Given the description of an element on the screen output the (x, y) to click on. 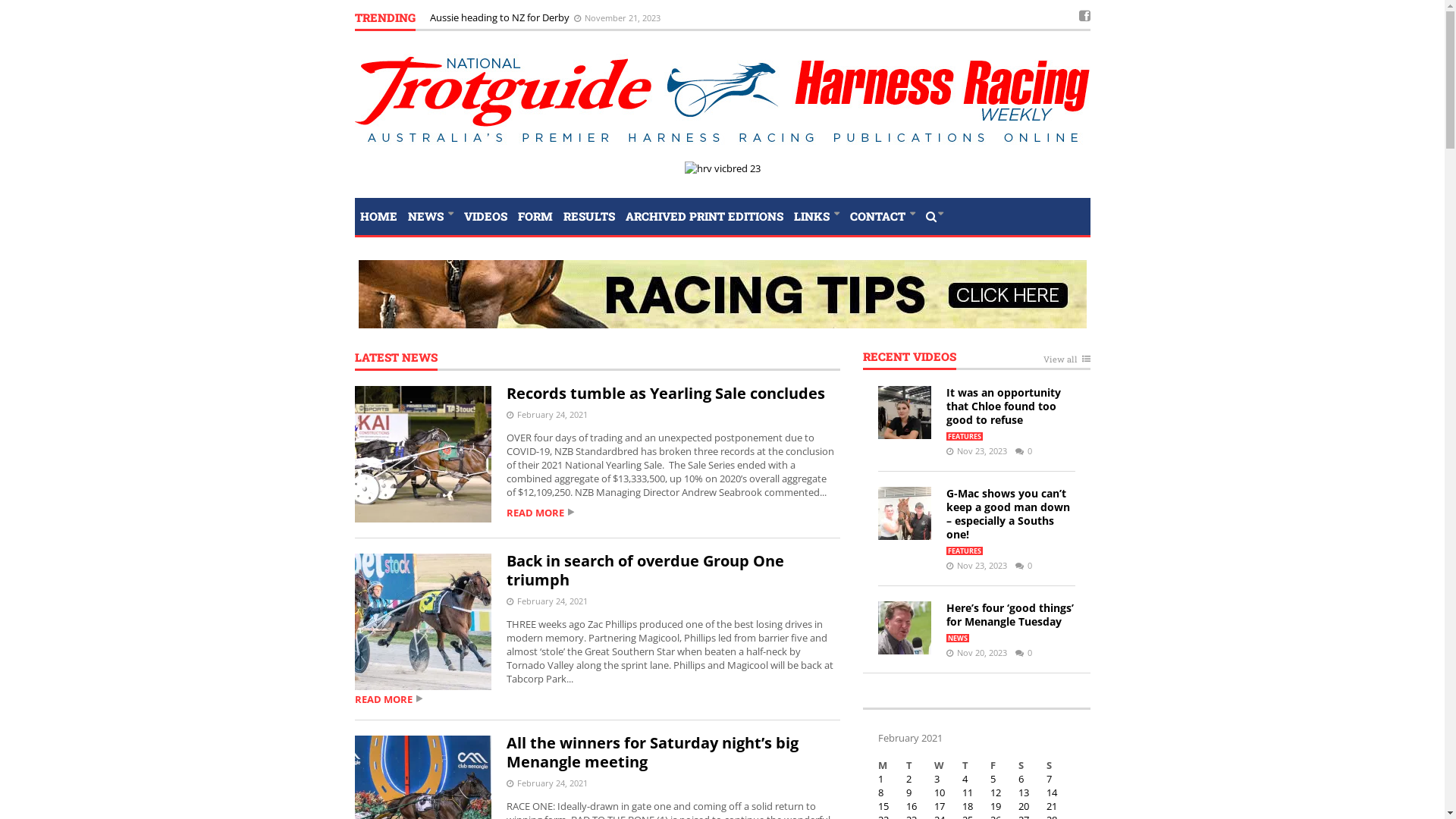
14 Element type: text (1051, 792)
0 Element type: text (1019, 651)
HOME Element type: text (378, 215)
21 Element type: text (1051, 805)
9 Element type: text (908, 792)
2 Element type: text (908, 778)
10 Element type: text (939, 792)
3 Element type: text (936, 778)
CONTACT Element type: text (882, 215)
FORM Element type: text (535, 215)
NEWS Element type: text (957, 637)
6 Element type: text (1020, 778)
13 Element type: text (1023, 792)
TRENDING Element type: text (384, 21)
FEATURES Element type: text (964, 550)
18 Element type: text (967, 805)
Back in search of overdue Group One triumph Element type: text (645, 569)
READ MORE Element type: text (597, 512)
RECENT VIDEOS Element type: text (909, 359)
8 Element type: text (880, 792)
0 Element type: text (1019, 565)
View all Element type: text (1066, 362)
16 Element type: text (911, 805)
LINKS Element type: text (816, 215)
It was an opportunity that Chloe found too good to refuse Element type: text (1003, 405)
5 Element type: text (992, 778)
READ MORE Element type: text (597, 699)
1 Element type: text (880, 778)
0 Element type: text (1019, 449)
He is the best horse I have ever trained Element type: text (518, 17)
19 Element type: text (995, 805)
RESULTS Element type: text (589, 215)
LATEST NEWS Element type: text (395, 360)
Records tumble as Yearling Sale concludes Element type: text (665, 392)
11 Element type: text (967, 792)
ARCHIVED PRINT EDITIONS Element type: text (704, 215)
15 Element type: text (883, 805)
7 Element type: text (1048, 778)
20 Element type: text (1023, 805)
17 Element type: text (939, 805)
FEATURES Element type: text (964, 436)
VIDEOS Element type: text (484, 215)
12 Element type: text (995, 792)
4 Element type: text (964, 778)
NEWS Element type: text (429, 215)
